Given the description of an element on the screen output the (x, y) to click on. 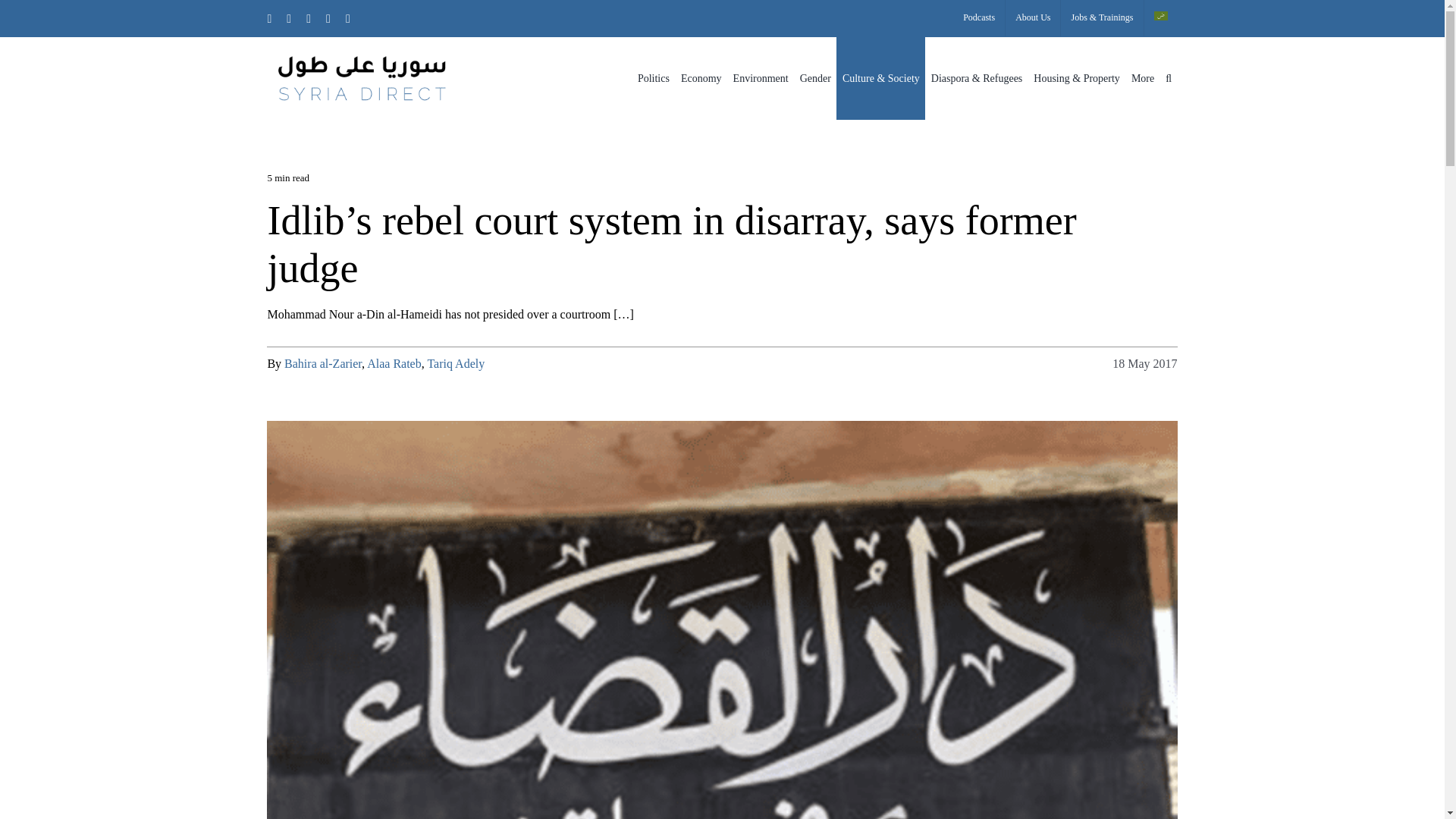
Podcasts (978, 18)
About Us (1032, 18)
